Given the description of an element on the screen output the (x, y) to click on. 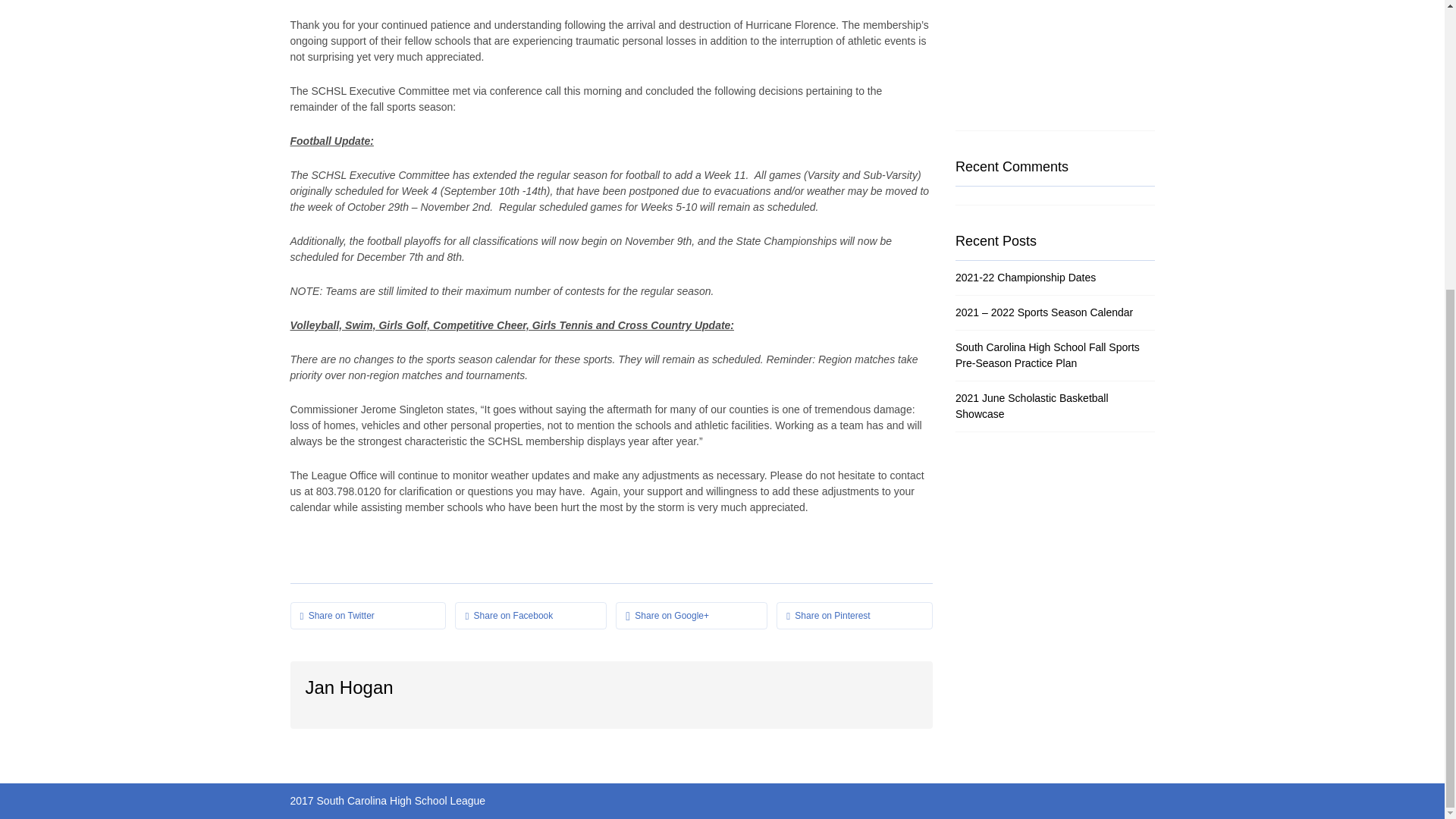
Jan Hogan (348, 687)
Share on Twitter (367, 615)
2021-22 Championship Dates (1025, 277)
2021 June Scholastic Basketball Showcase (1031, 406)
Share on Pinterest (854, 615)
Share on Facebook (530, 615)
